Given the description of an element on the screen output the (x, y) to click on. 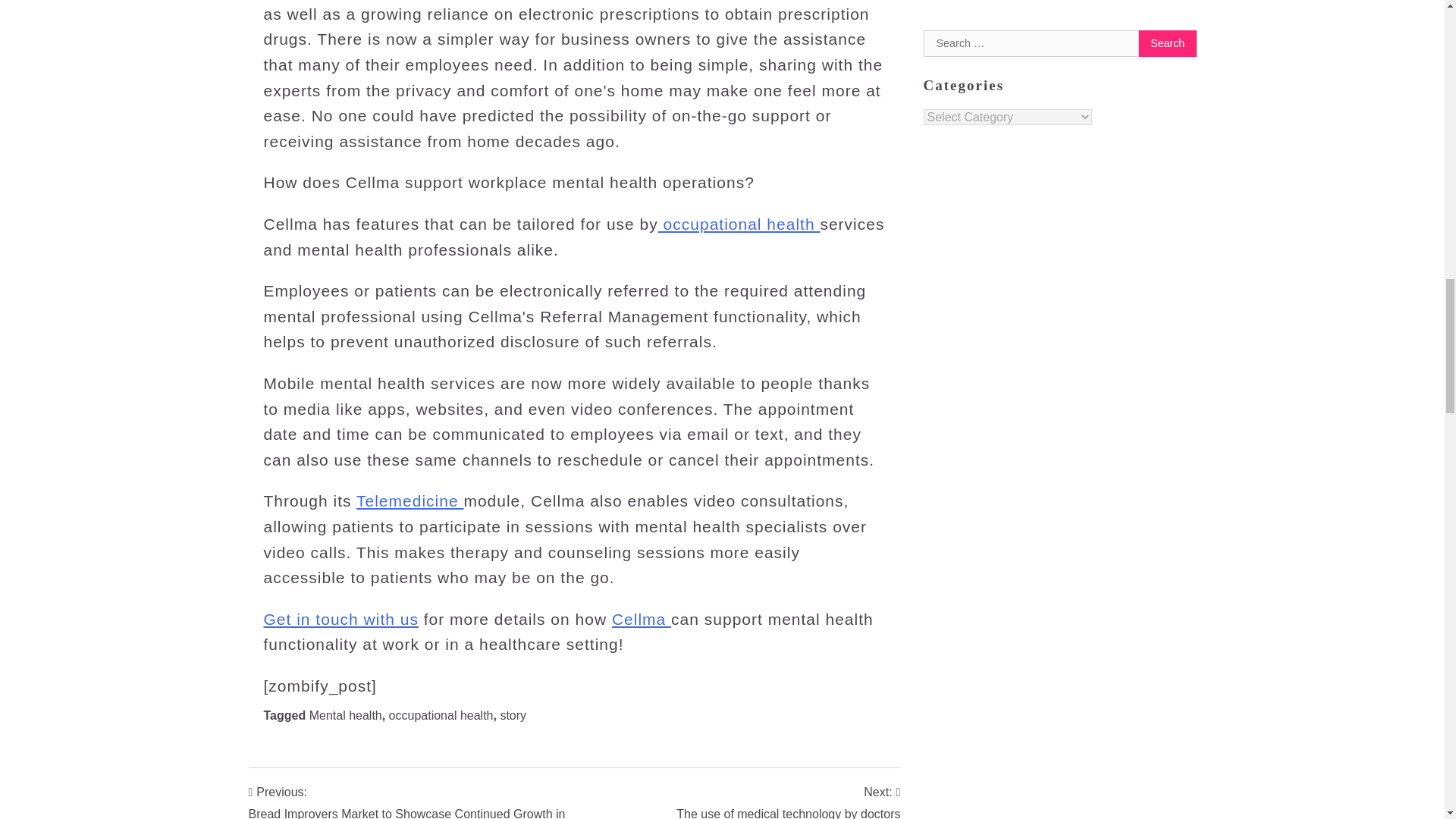
Mental health (344, 714)
story (512, 714)
Telemedicine (409, 500)
Get in touch with us (788, 800)
Cellma (341, 619)
occupational health (641, 619)
occupational health (739, 223)
